Given the description of an element on the screen output the (x, y) to click on. 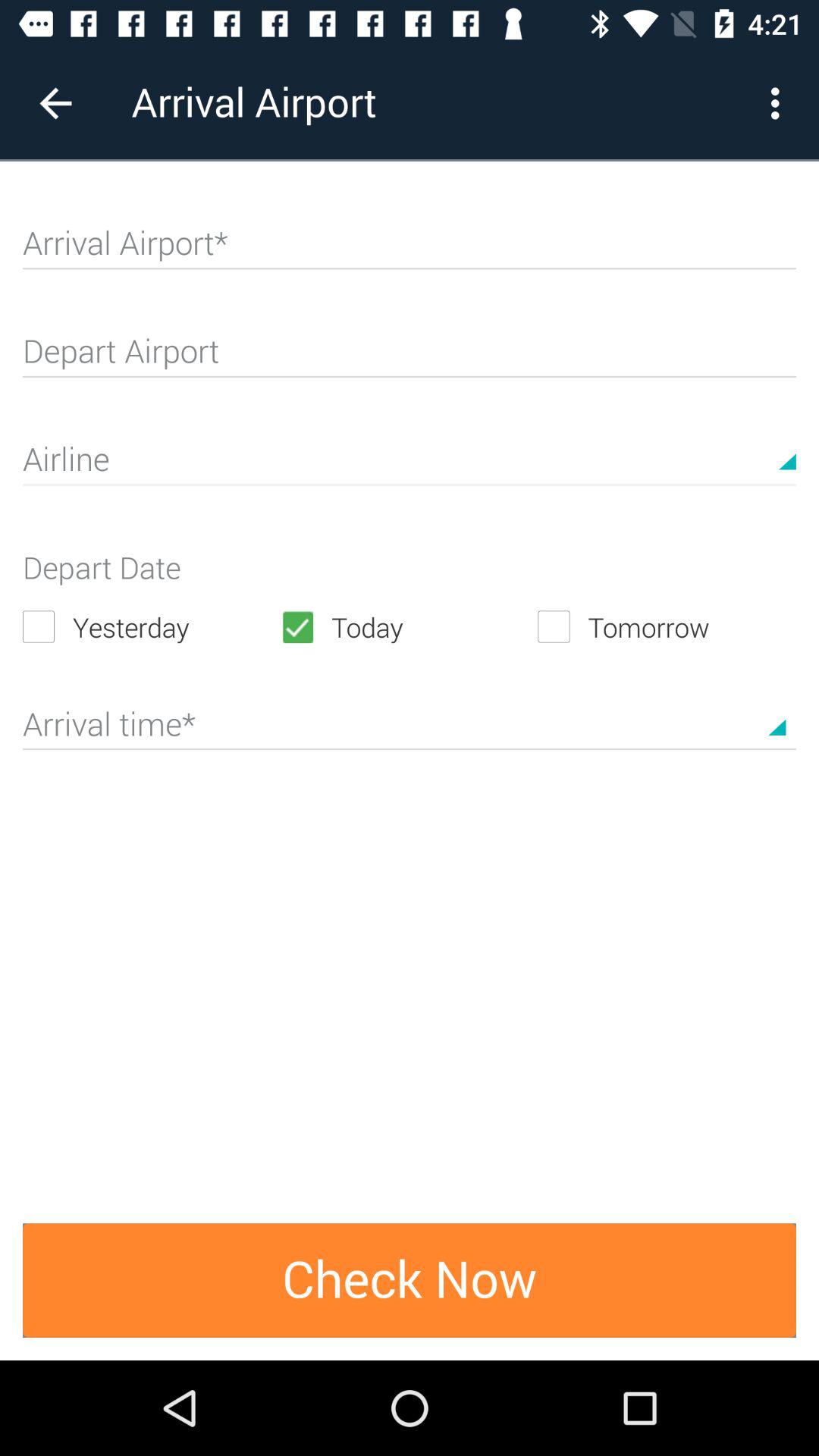
airline (409, 465)
